Given the description of an element on the screen output the (x, y) to click on. 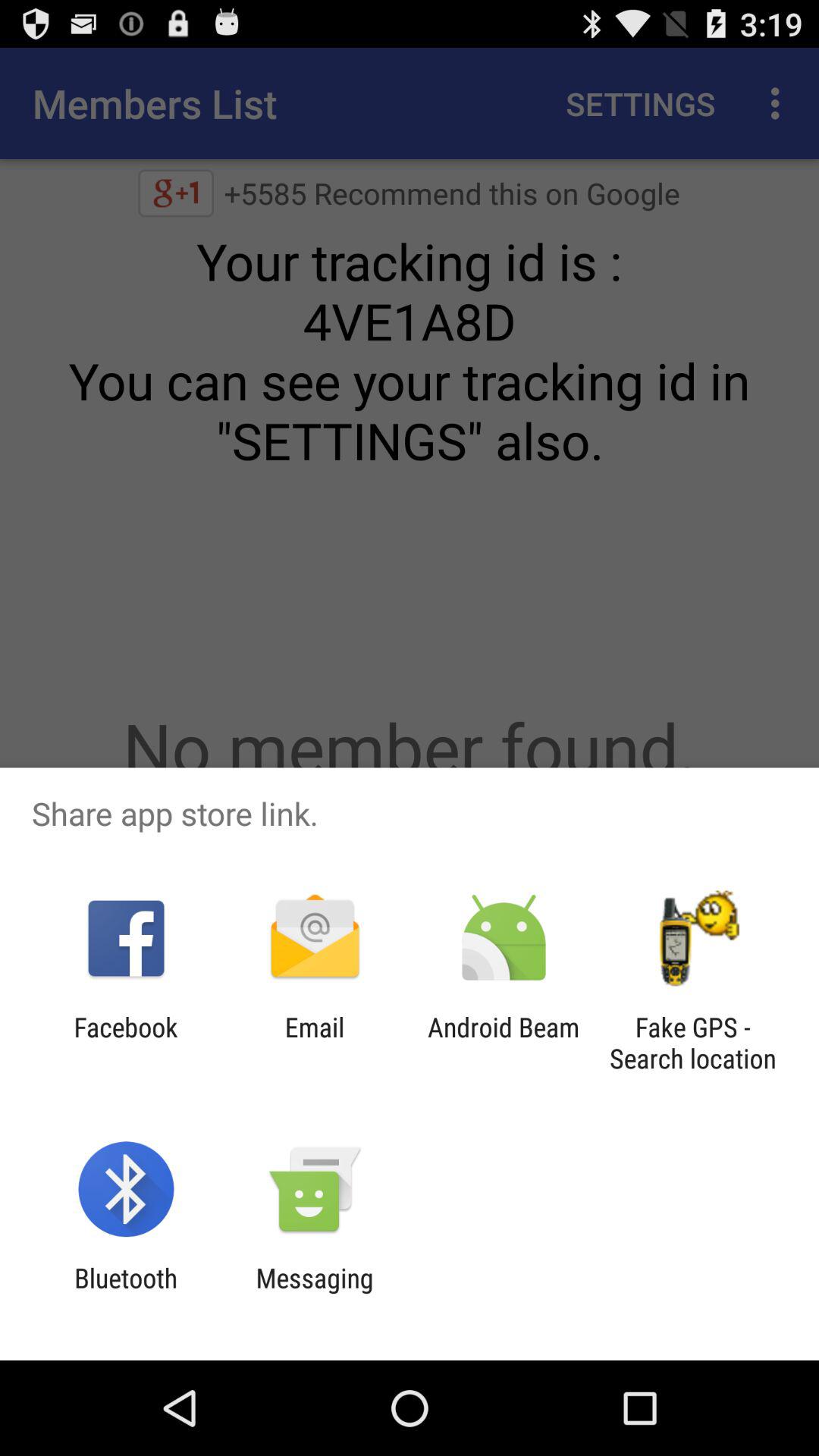
swipe to android beam (503, 1042)
